Given the description of an element on the screen output the (x, y) to click on. 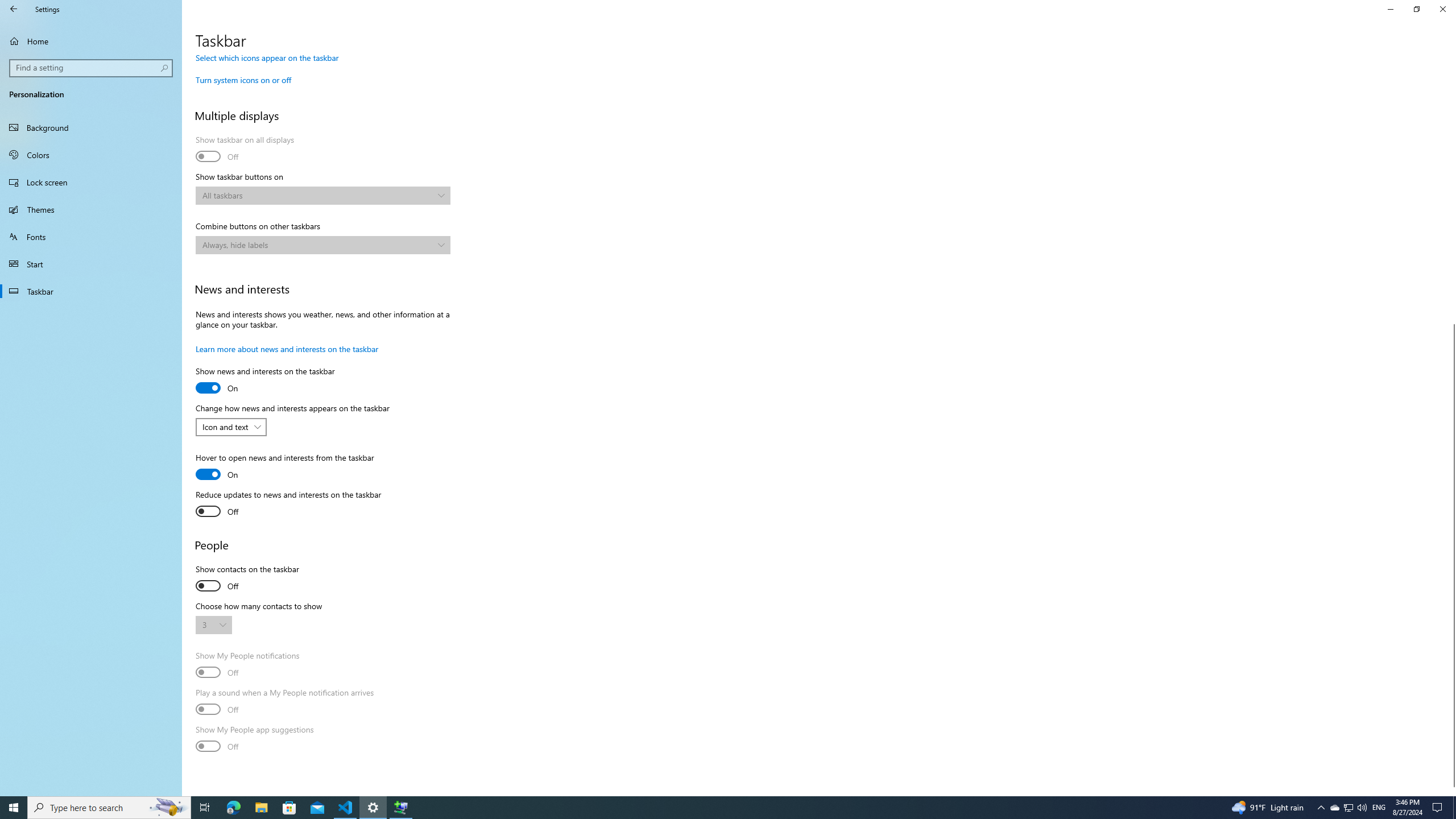
Reduce updates to news and interests on the taskbar (288, 504)
How do I customize taskbars? (247, 1)
Combine buttons on other taskbars (322, 244)
Colors (91, 154)
Show news and interests on the taskbar (264, 381)
Show taskbar buttons on (322, 195)
Show taskbar on all displays (244, 149)
Vertical Small Decrease (1451, 58)
Show contacts on the taskbar (246, 578)
All taskbars (317, 195)
